Given the description of an element on the screen output the (x, y) to click on. 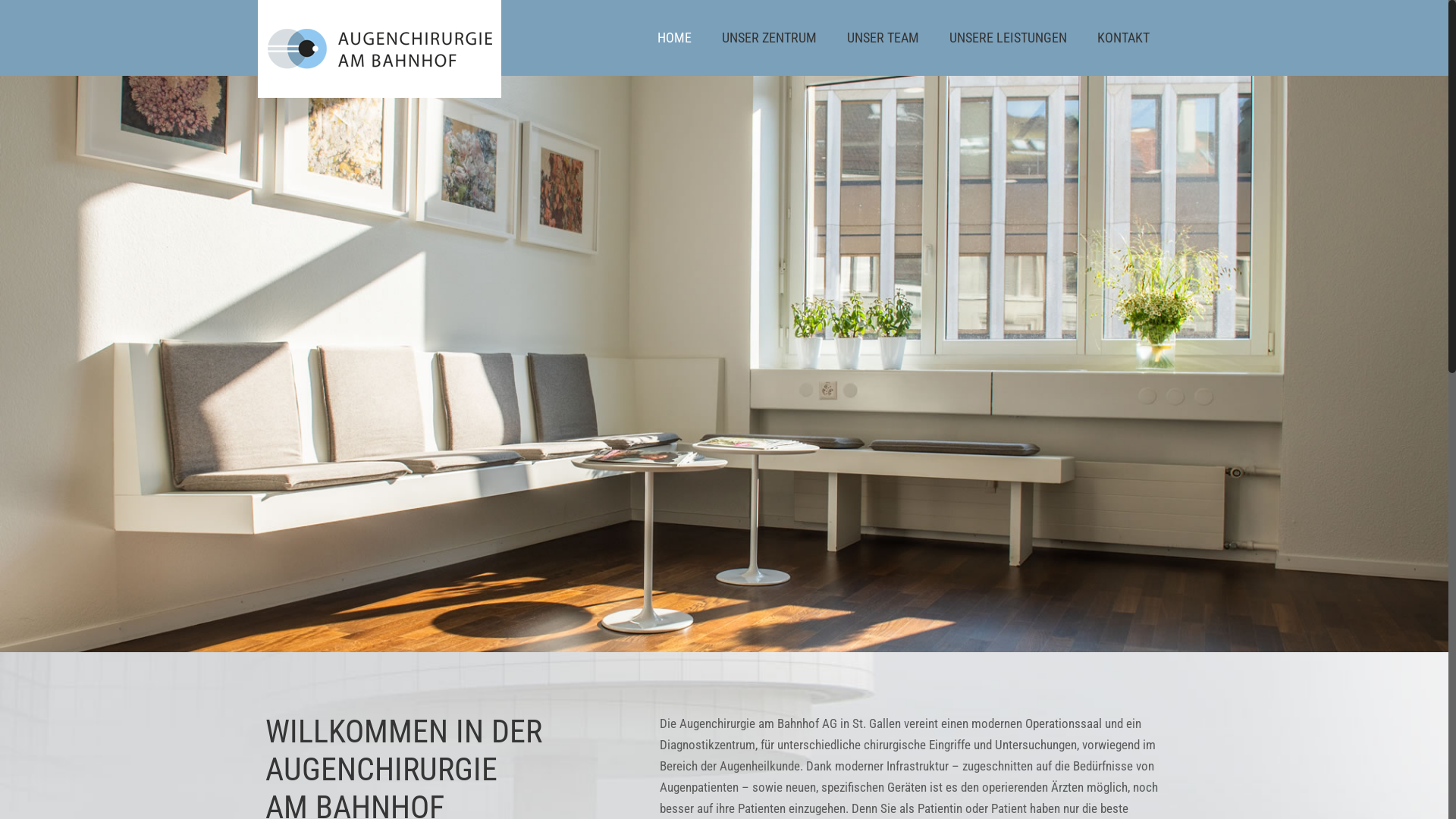
UNSER ZENTRUM Element type: text (768, 37)
UNSERE LEISTUNGEN Element type: text (1008, 37)
Augenchirurgie am Bahnhof Element type: hover (379, 48)
UNSER TEAM Element type: text (882, 37)
KONTAKT Element type: text (1123, 37)
HOME Element type: text (674, 37)
